Given the description of an element on the screen output the (x, y) to click on. 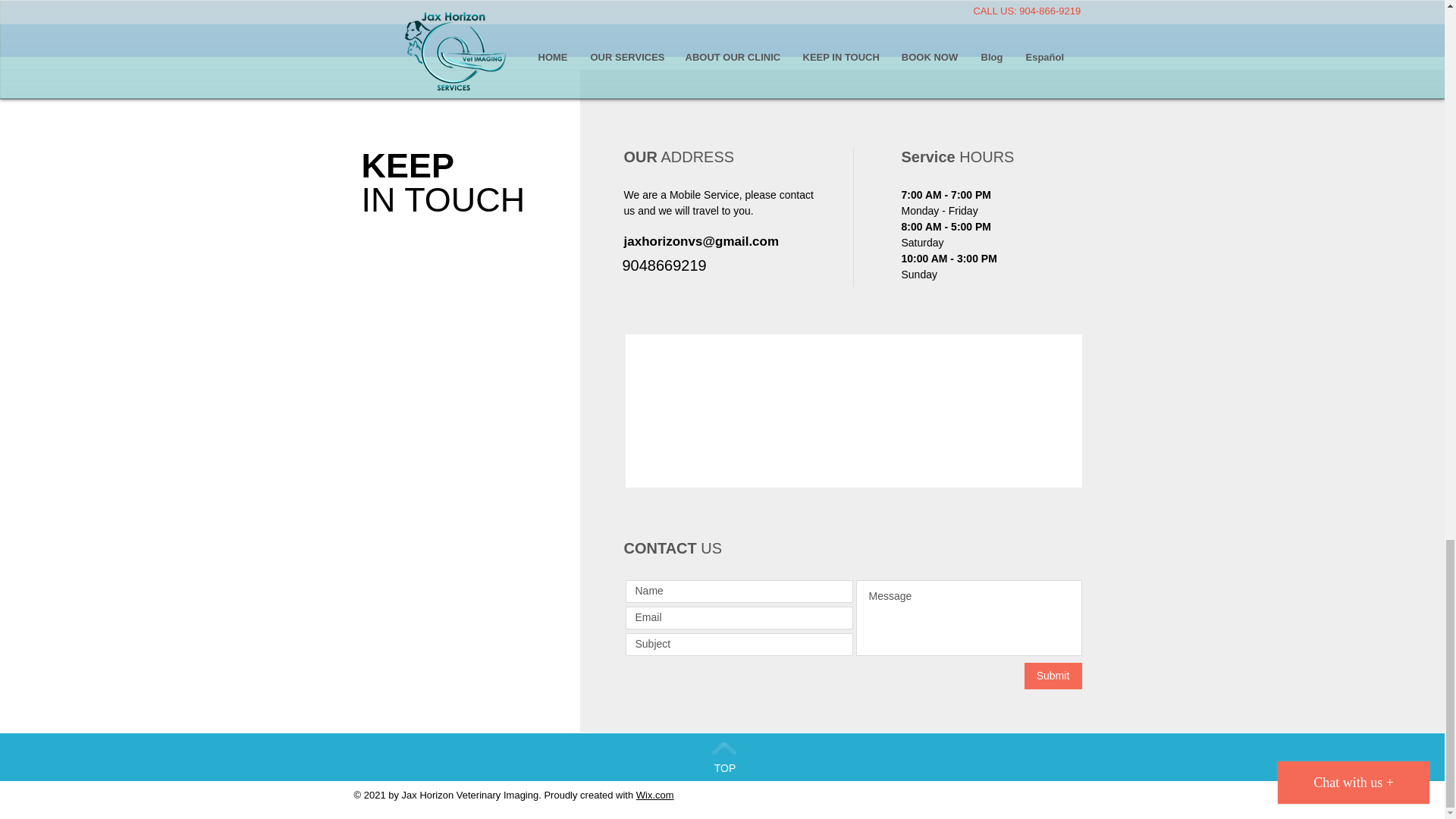
TOP (725, 767)
Wix.com (655, 794)
Submit (1052, 675)
Google Maps (853, 410)
